Given the description of an element on the screen output the (x, y) to click on. 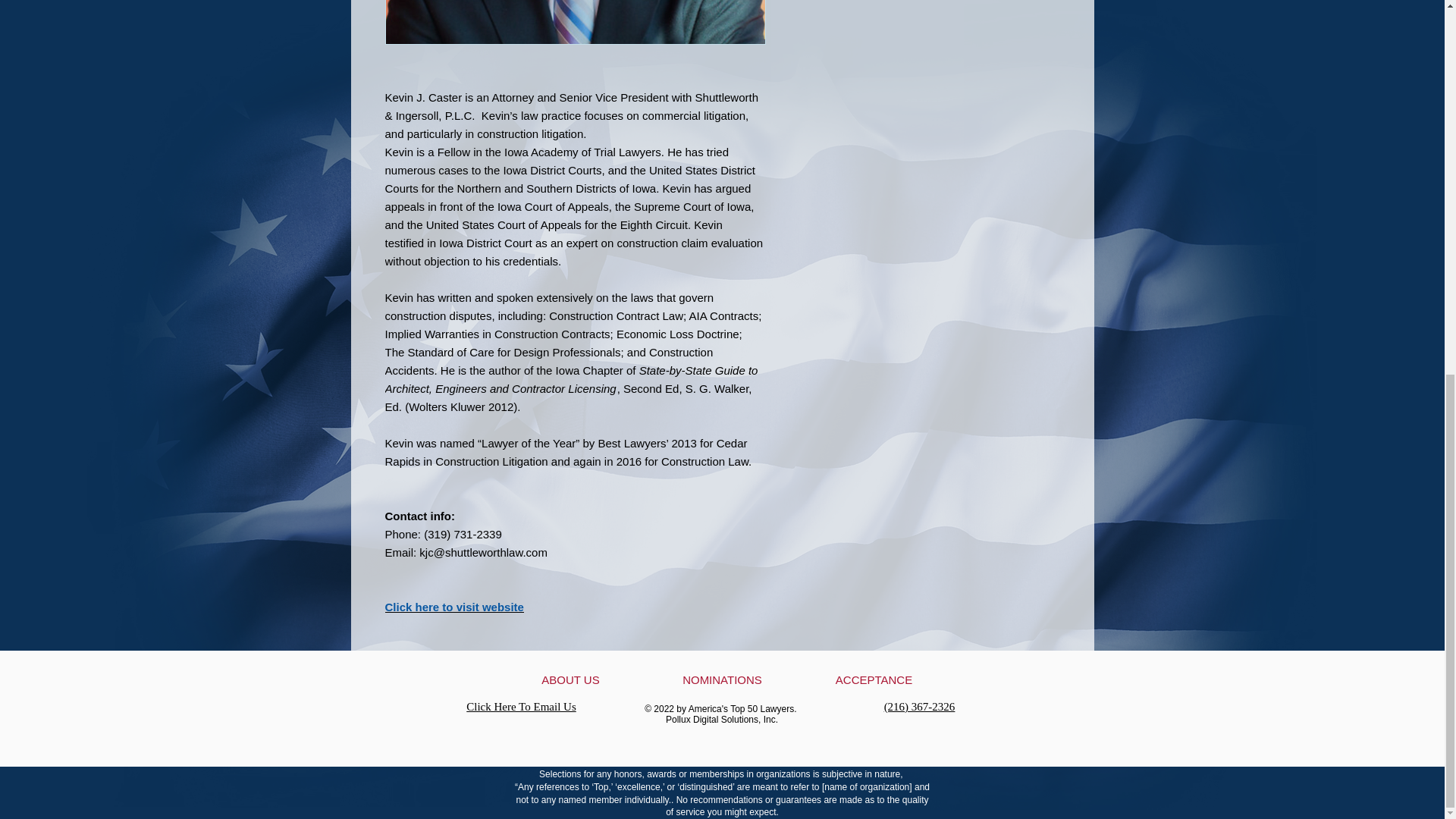
Click here to visit website (454, 606)
NOMINATIONS (721, 679)
ABOUT US (570, 679)
Click Here To Email Us (520, 706)
ACCEPTANCE (873, 679)
